Given the description of an element on the screen output the (x, y) to click on. 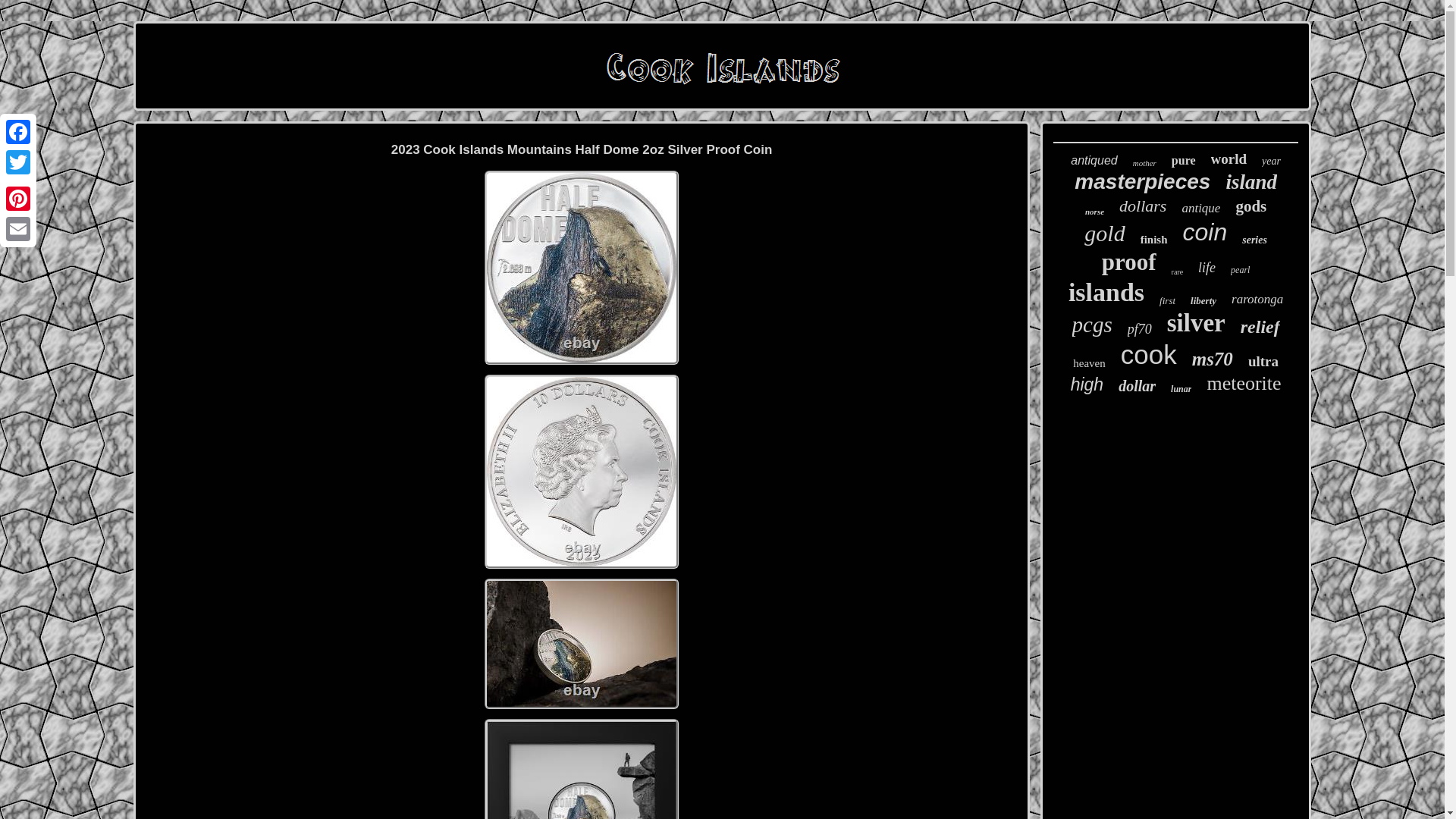
norse (1093, 211)
island (1250, 182)
2023 Cook Islands Mountains Half Dome 2oz Silver Proof Coin (581, 643)
year (1271, 161)
2023 Cook Islands Mountains Half Dome 2oz Silver Proof Coin (581, 769)
proof (1129, 262)
silver (1196, 323)
pure (1183, 160)
gods (1250, 206)
relief (1259, 326)
